Given the description of an element on the screen output the (x, y) to click on. 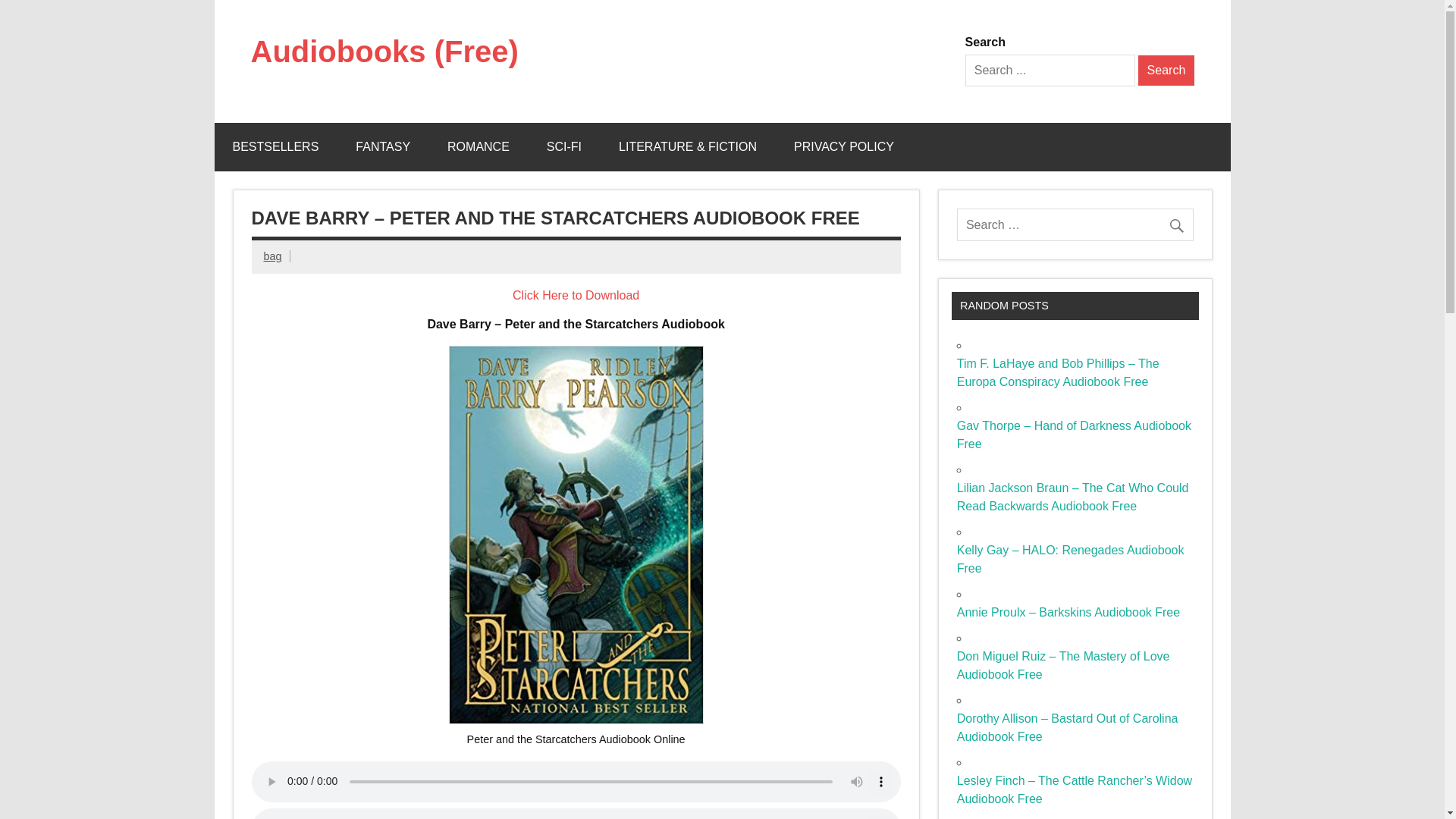
Search ... (1050, 70)
Click Here to Download (575, 295)
FANTASY (382, 146)
BESTSELLERS (275, 146)
Search (1165, 70)
ROMANCE (478, 146)
bag (272, 256)
View all posts by bag (272, 256)
Search (1165, 70)
SCI-FI (563, 146)
